Given the description of an element on the screen output the (x, y) to click on. 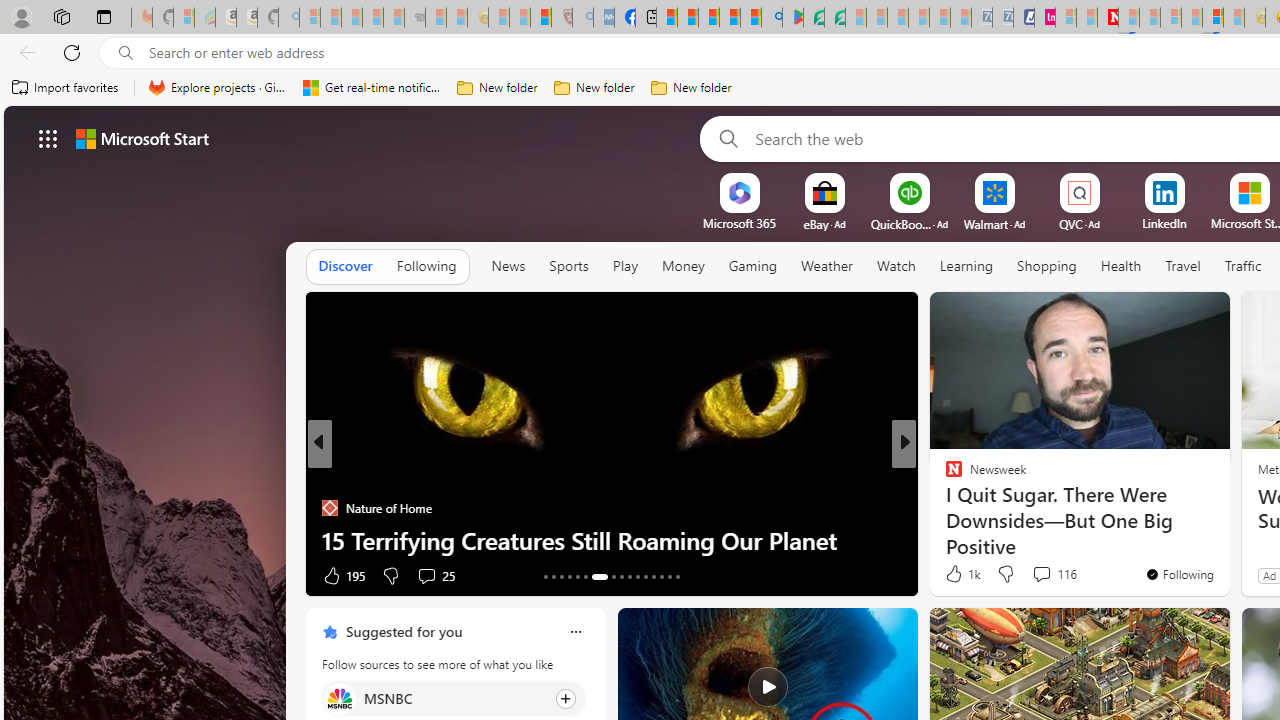
AutomationID: tab-41 (669, 576)
Latest Politics News & Archive | Newsweek.com (1107, 17)
AutomationID: tab-19 (599, 576)
15 Terrifying Creatures Still Roaming Our Planet (611, 539)
App launcher (47, 138)
View comments 116 Comment (1041, 573)
google - Search (771, 17)
The Associated Press (944, 475)
Health (1121, 265)
AutomationID: tab-23 (637, 576)
